Given the description of an element on the screen output the (x, y) to click on. 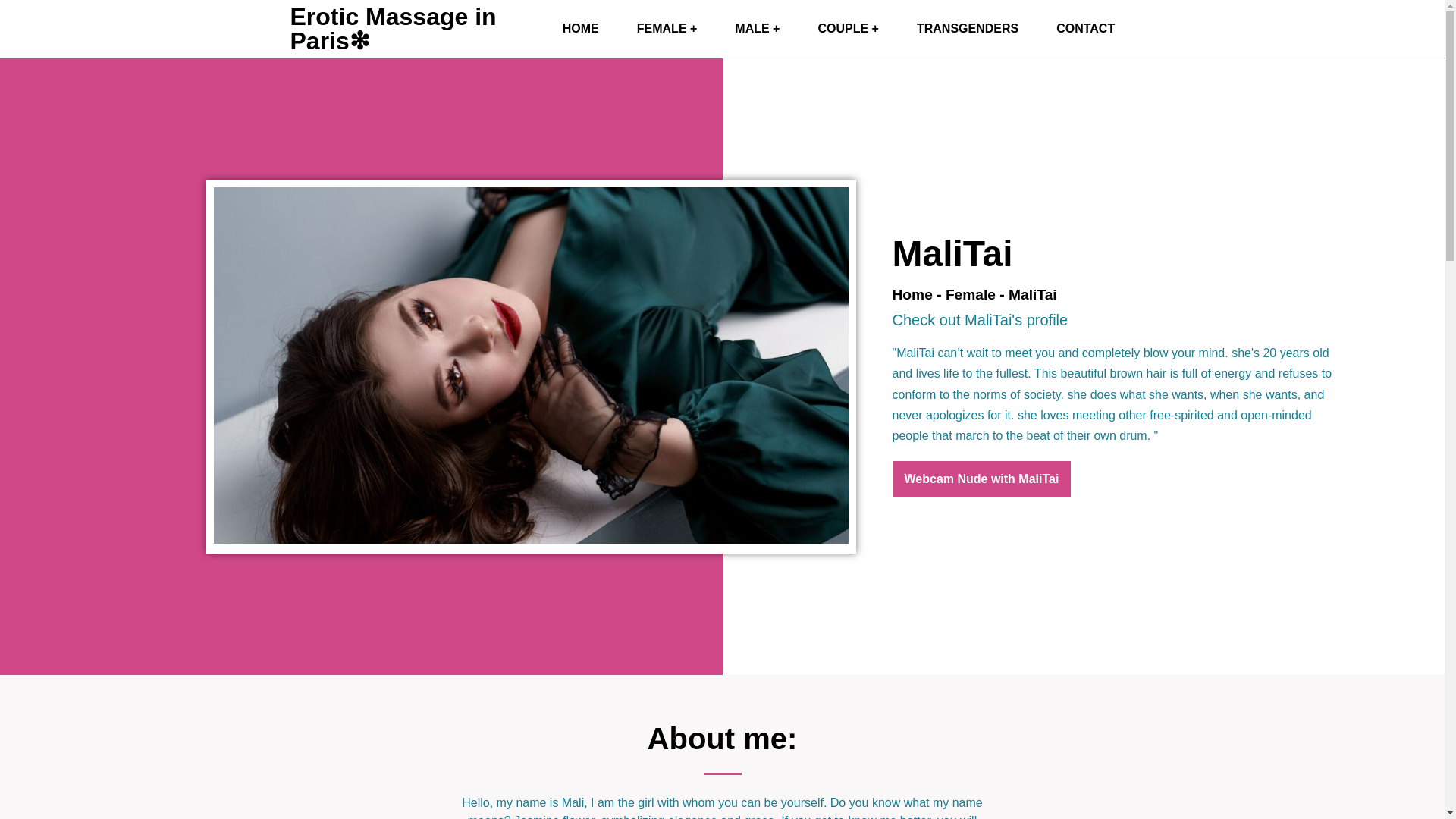
Erotic Massage In Paris?? (392, 28)
Home (911, 294)
Transgenders (967, 28)
TRANSGENDERS (967, 28)
Webcam Nude with MaliTai (980, 479)
CONTACT (1086, 28)
Erotic Massage In Paris?? (580, 28)
Contact (1086, 28)
Female (969, 294)
HOME (580, 28)
